Given the description of an element on the screen output the (x, y) to click on. 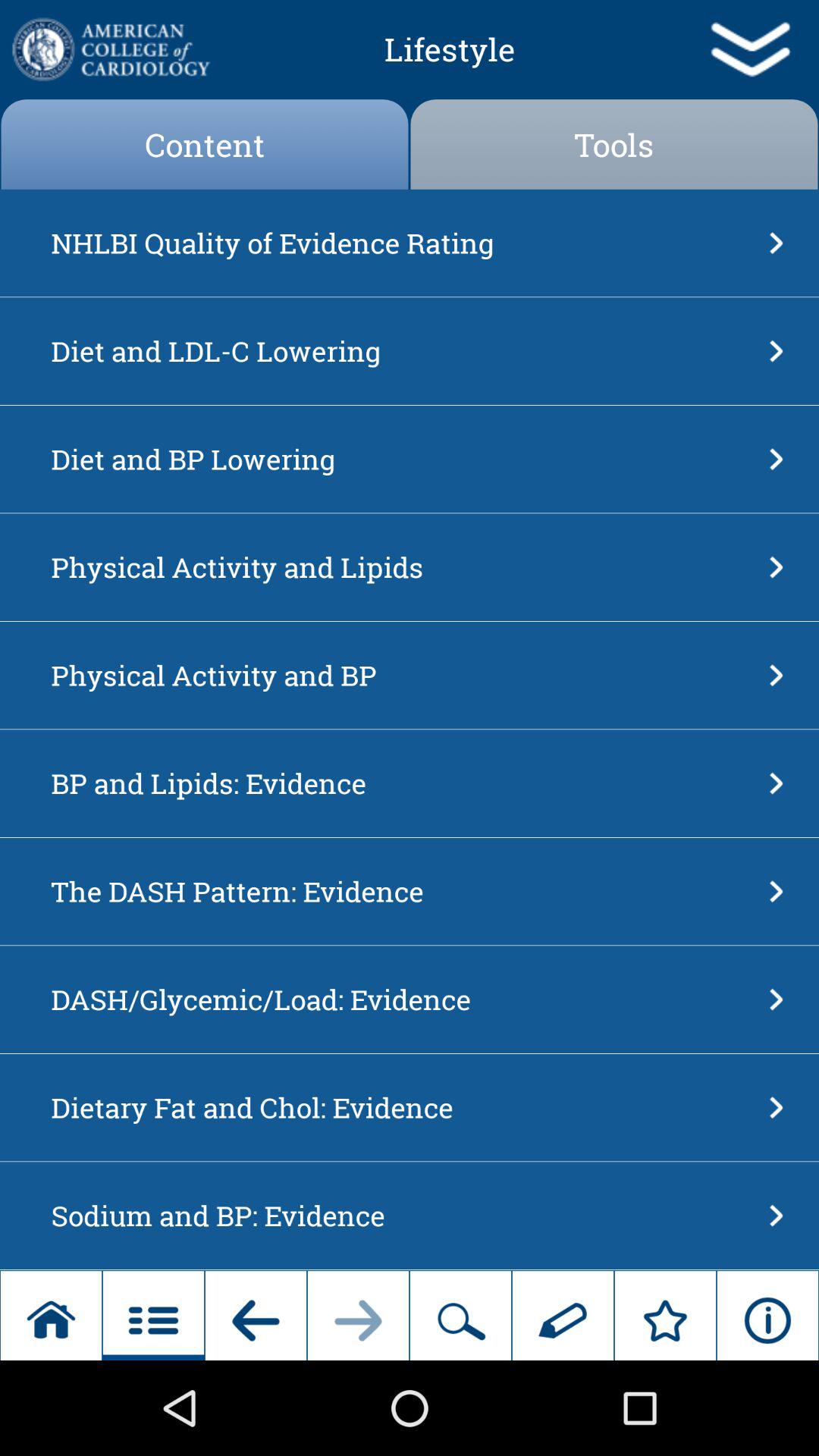
flip to the nhlbi quality of icon (405, 243)
